Given the description of an element on the screen output the (x, y) to click on. 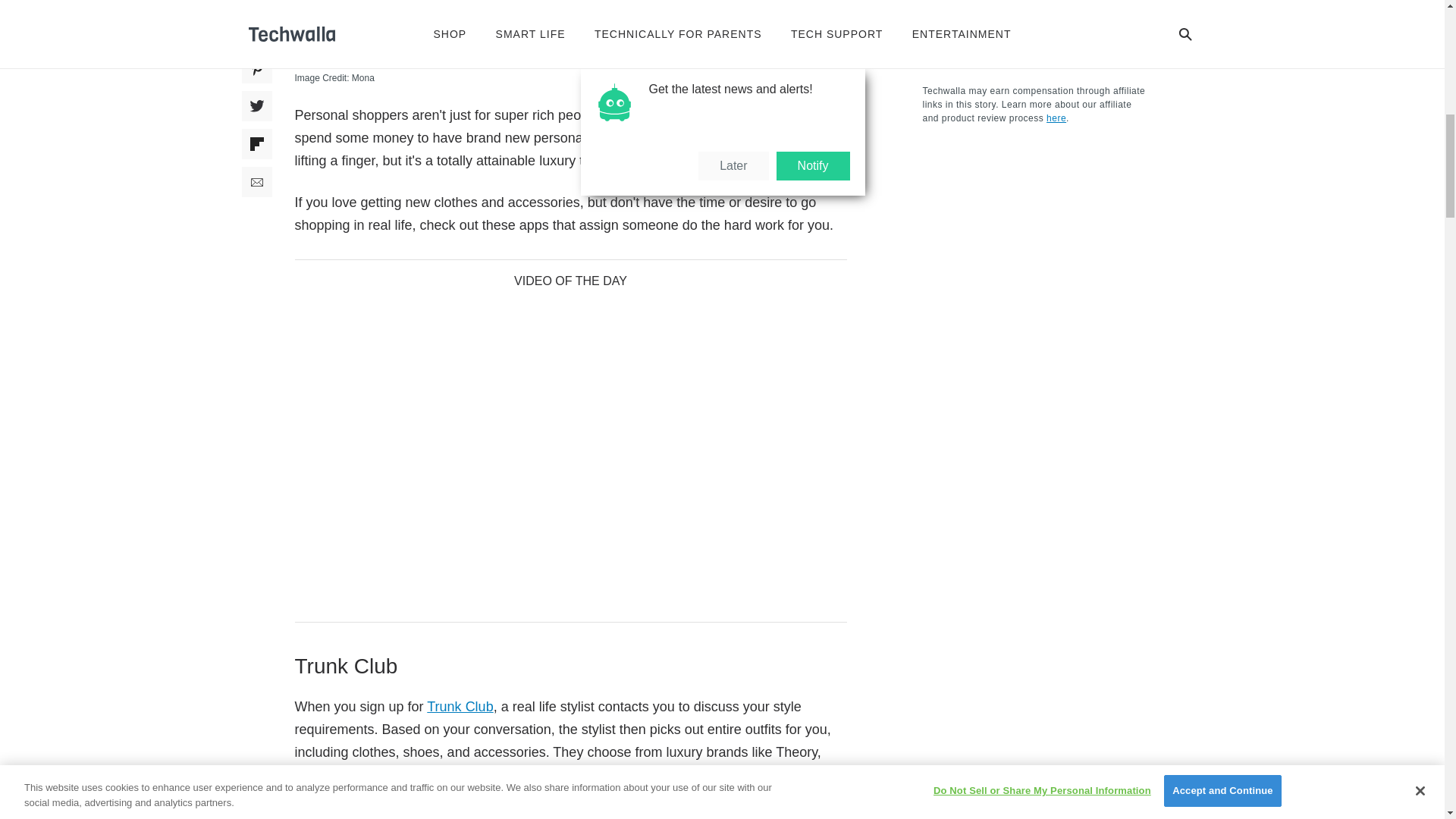
3rd party ad content (1035, 712)
Trunk Club (459, 706)
Image Credit: Mona (569, 78)
